Given the description of an element on the screen output the (x, y) to click on. 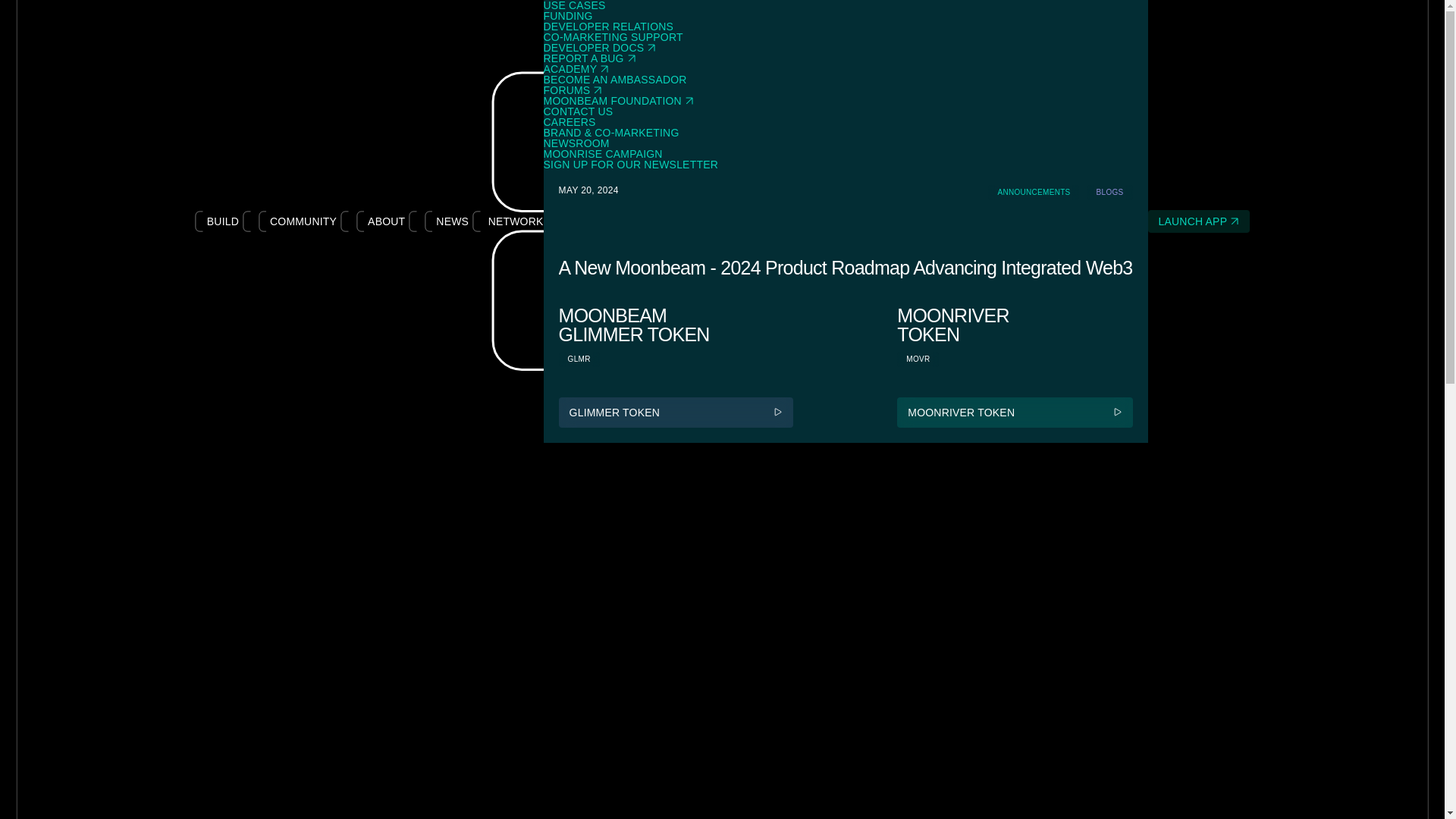
COMMUNITY (304, 220)
DEVELOPER DOCS (845, 47)
DEVELOPER RELATIONS (845, 26)
REPORT A BUG (845, 58)
USE CASES (845, 5)
CO-MARKETING SUPPORT (845, 36)
NEWS (452, 220)
FUNDING (845, 15)
BUILD (222, 220)
ABOUT (386, 220)
